Given the description of an element on the screen output the (x, y) to click on. 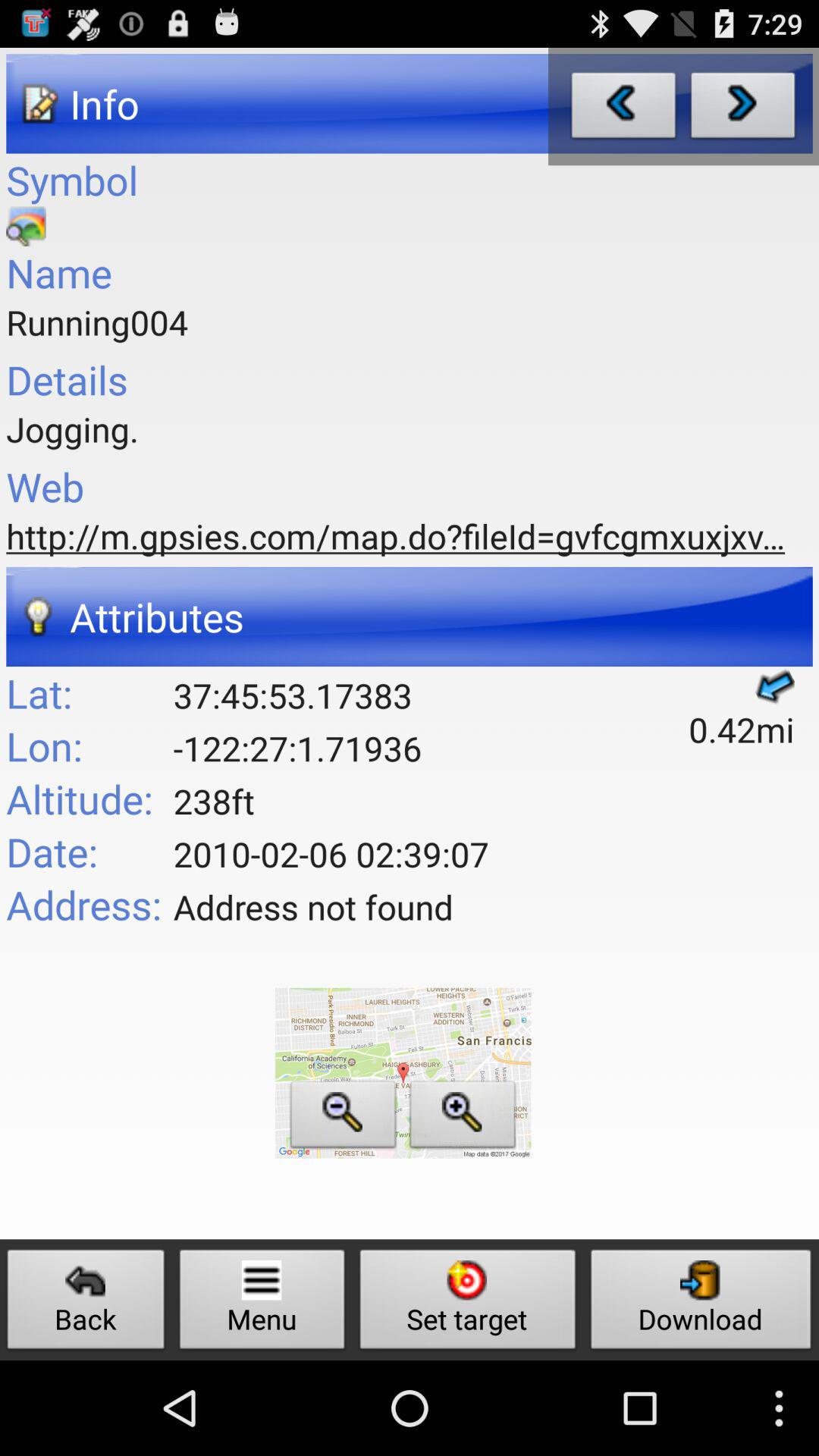
minimize (343, 1118)
